Given the description of an element on the screen output the (x, y) to click on. 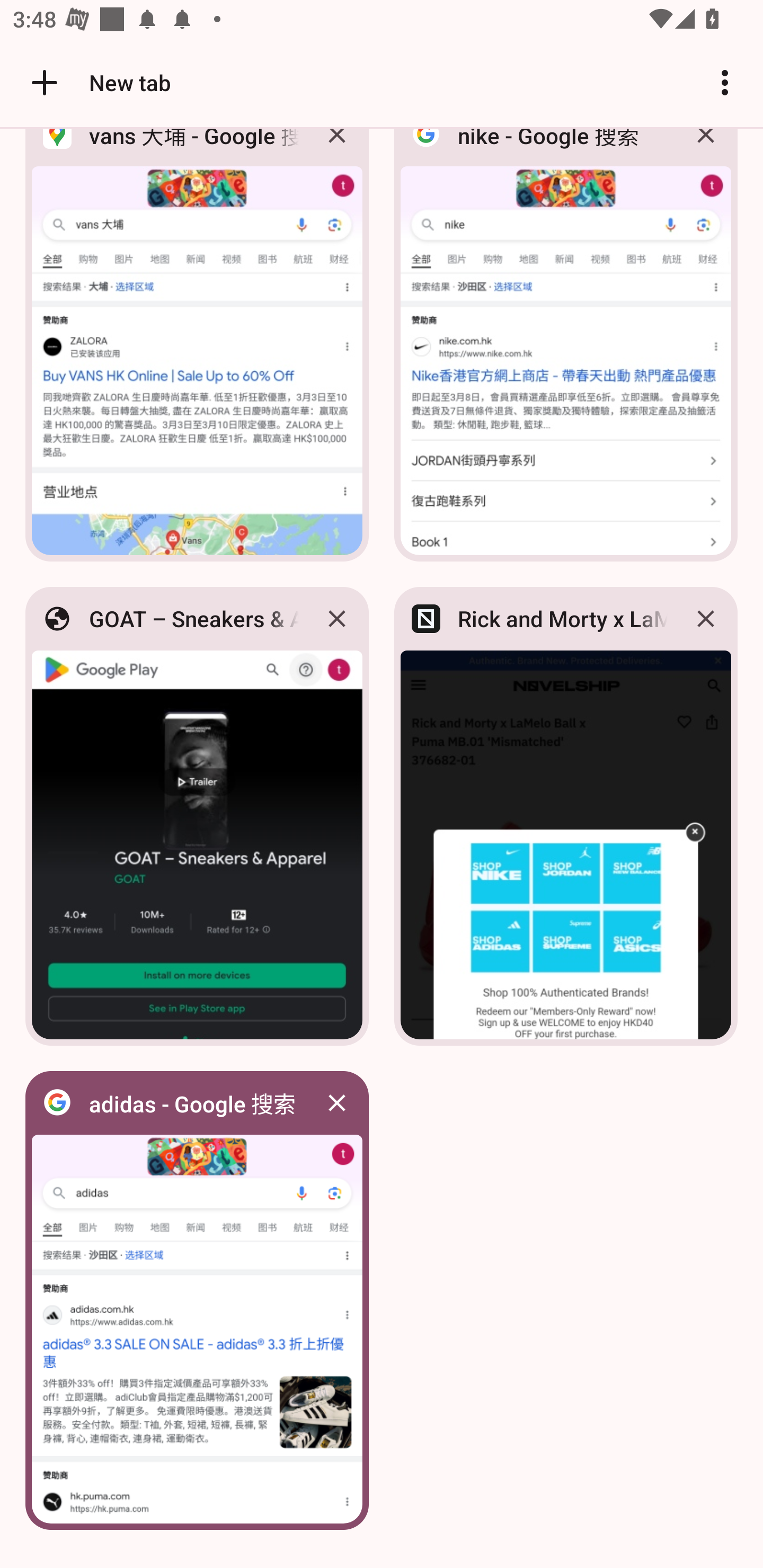
Open the home page (38, 82)
New tab (98, 82)
Customize and control Google Chrome (724, 82)
Customize and control Google Chrome (724, 82)
Close vans 大埔 - Google 搜索 tab (337, 149)
Close nike - Google 搜索 tab (705, 149)
Close adidas - Google 搜索 tab (337, 1102)
